Given the description of an element on the screen output the (x, y) to click on. 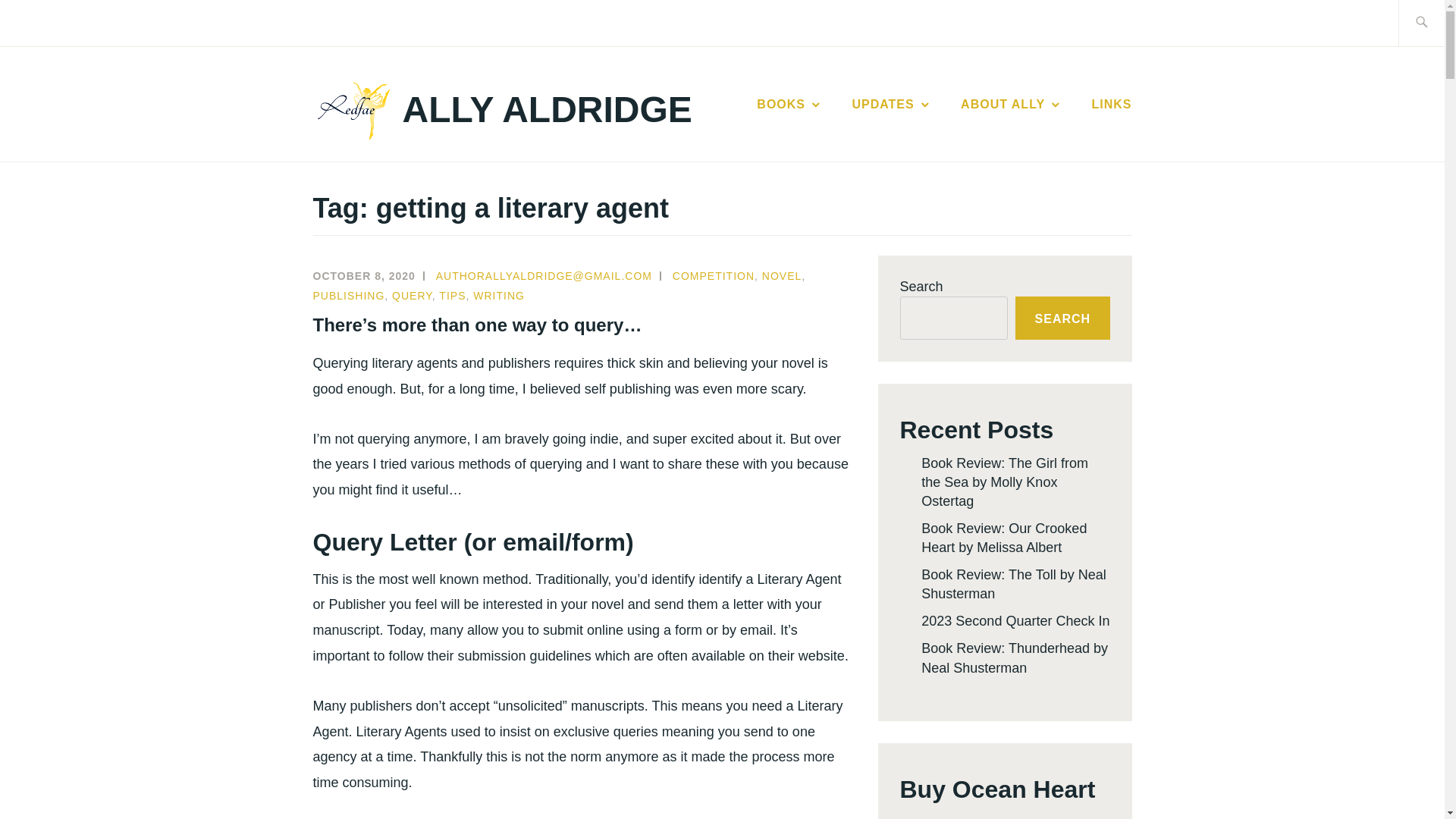
SEARCH (1061, 318)
PUBLISHING (348, 295)
ABOUT ALLY (1011, 104)
QUERY (411, 295)
NOVEL (781, 275)
TIPS (452, 295)
UPDATES (891, 104)
ALLY ALDRIDGE (548, 109)
LINKS (1112, 104)
COMPETITION (713, 275)
